Given the description of an element on the screen output the (x, y) to click on. 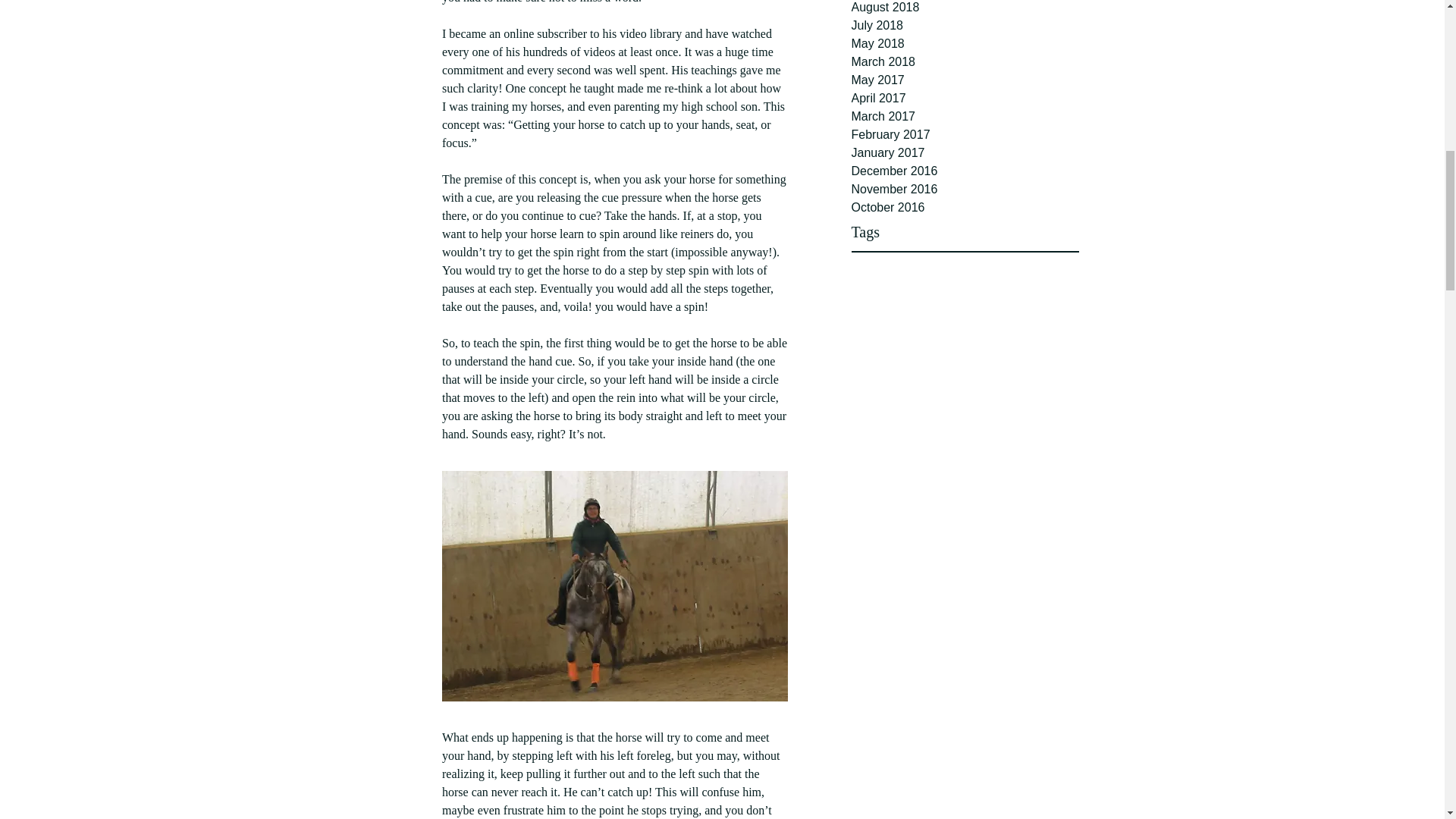
March 2017 (964, 116)
May 2017 (964, 80)
March 2018 (964, 62)
May 2018 (964, 44)
July 2018 (964, 25)
August 2018 (964, 8)
April 2017 (964, 98)
February 2017 (964, 135)
